Given the description of an element on the screen output the (x, y) to click on. 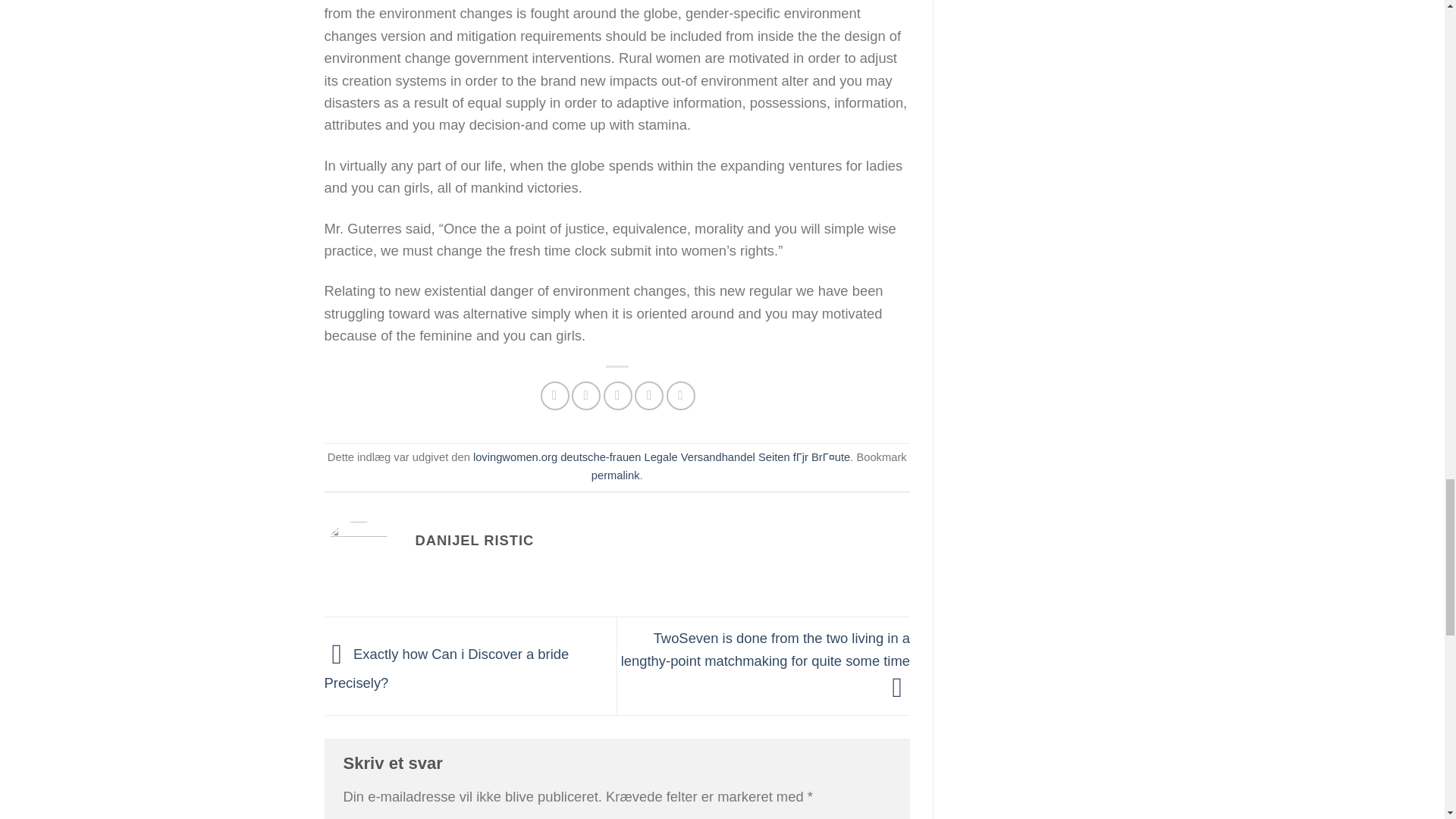
Exactly how Can i Discover a bride Precisely? (446, 668)
permalink (615, 475)
